Given the description of an element on the screen output the (x, y) to click on. 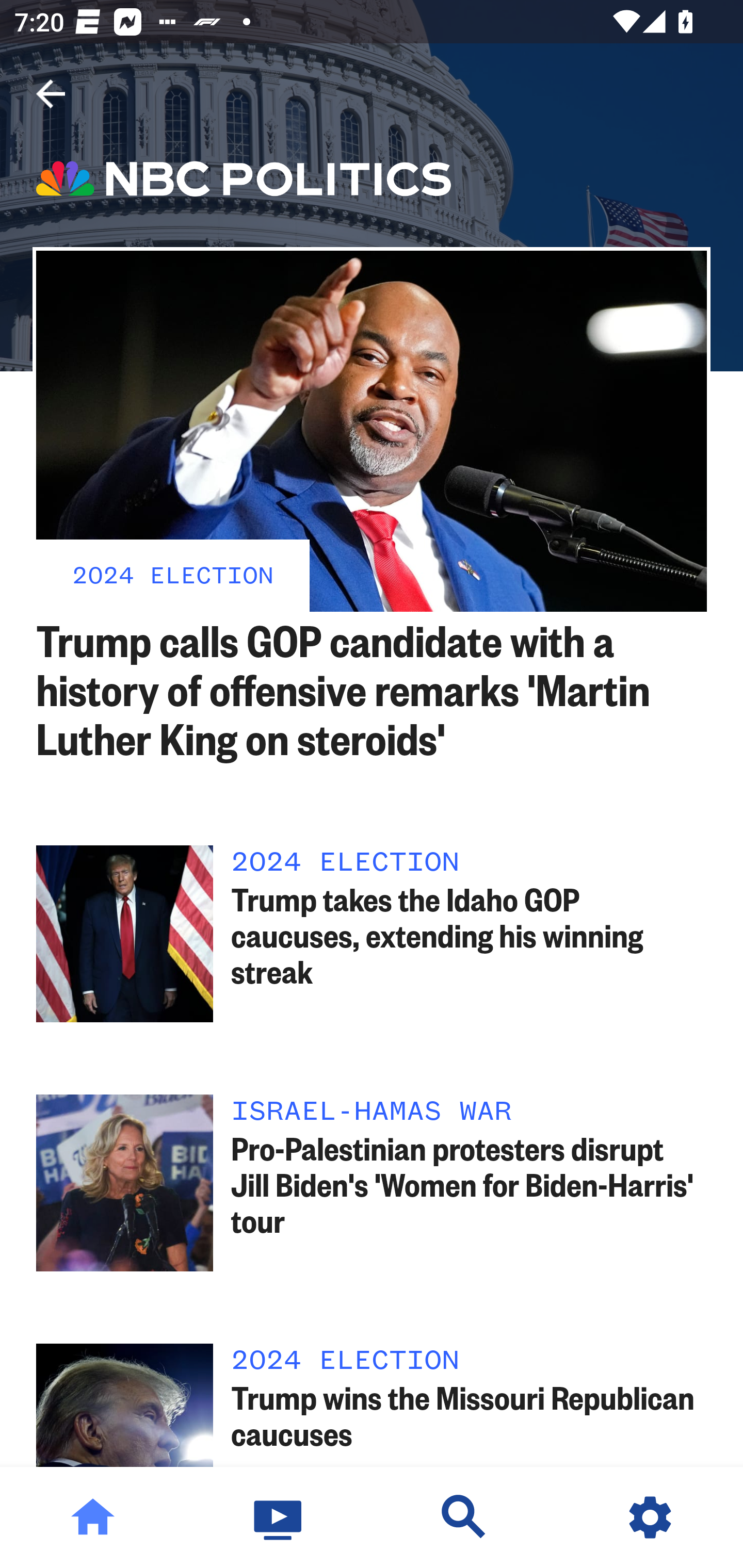
Navigate up (50, 93)
Watch (278, 1517)
Discover (464, 1517)
Settings (650, 1517)
